Given the description of an element on the screen output the (x, y) to click on. 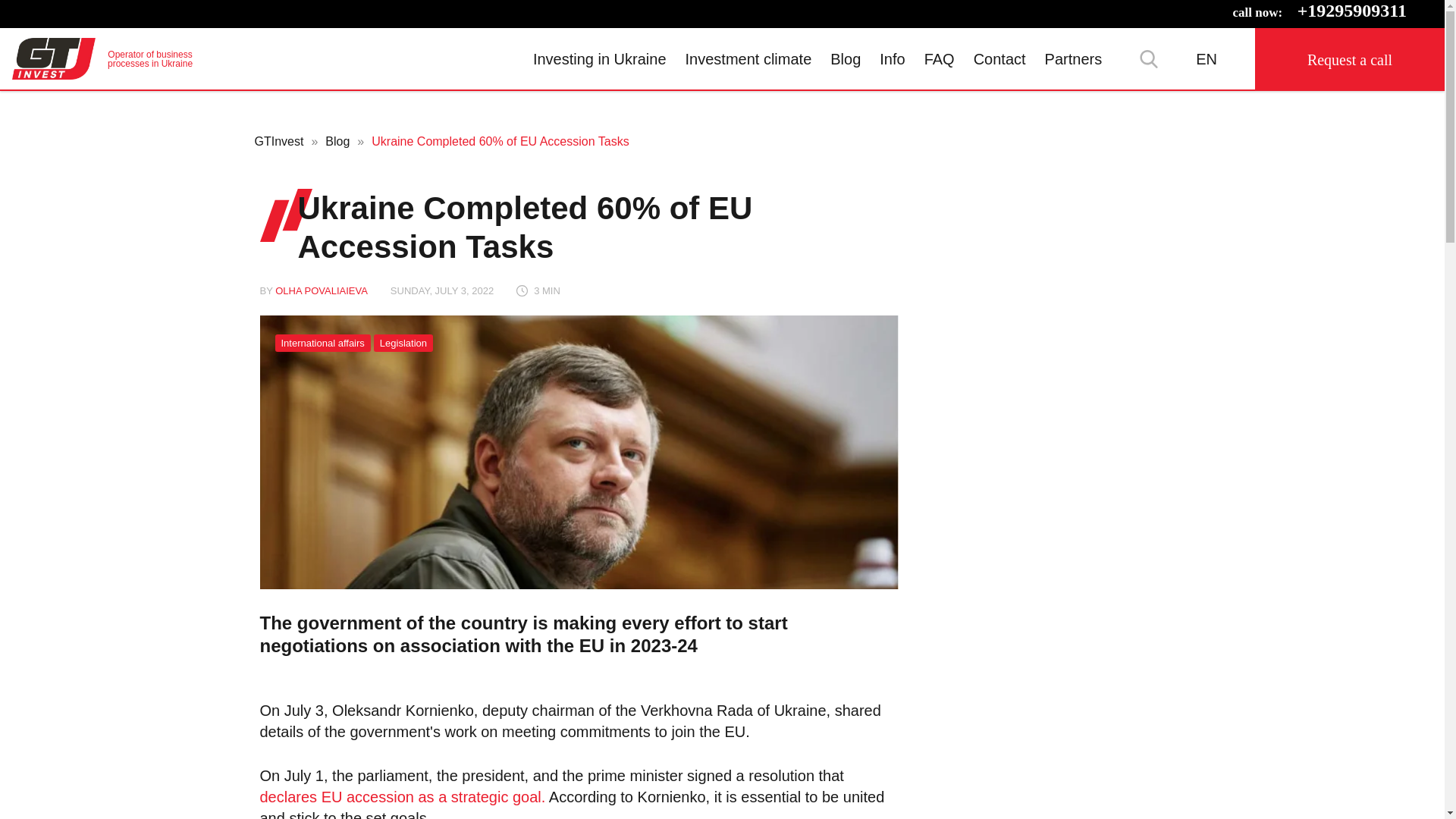
Investing in Ukraine (599, 58)
GTInvest (101, 58)
Legislation (403, 343)
International affairs (322, 343)
